Given the description of an element on the screen output the (x, y) to click on. 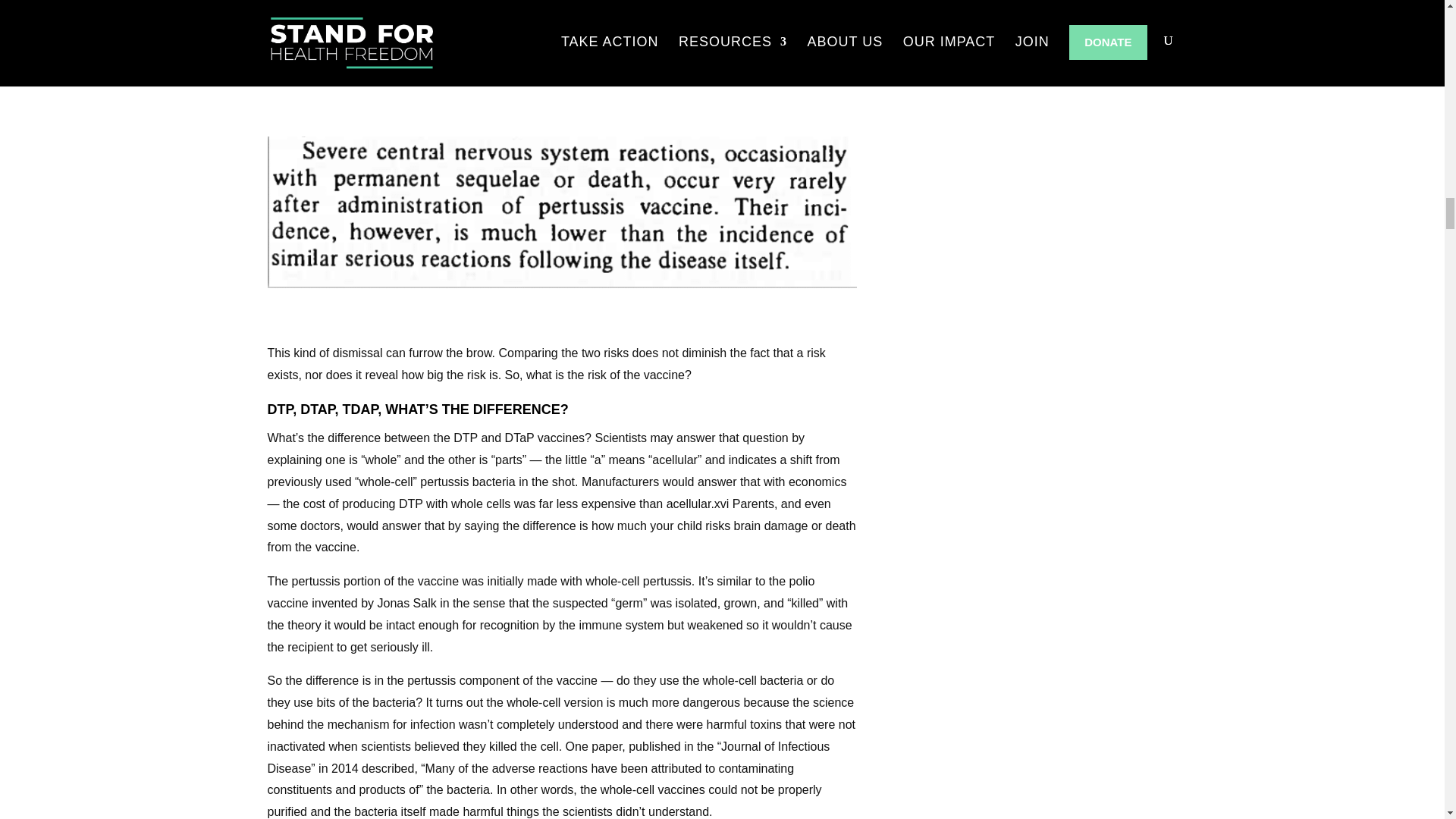
Screenshot 2023-07-19 at 10.03.26 PM (561, 212)
